Given the description of an element on the screen output the (x, y) to click on. 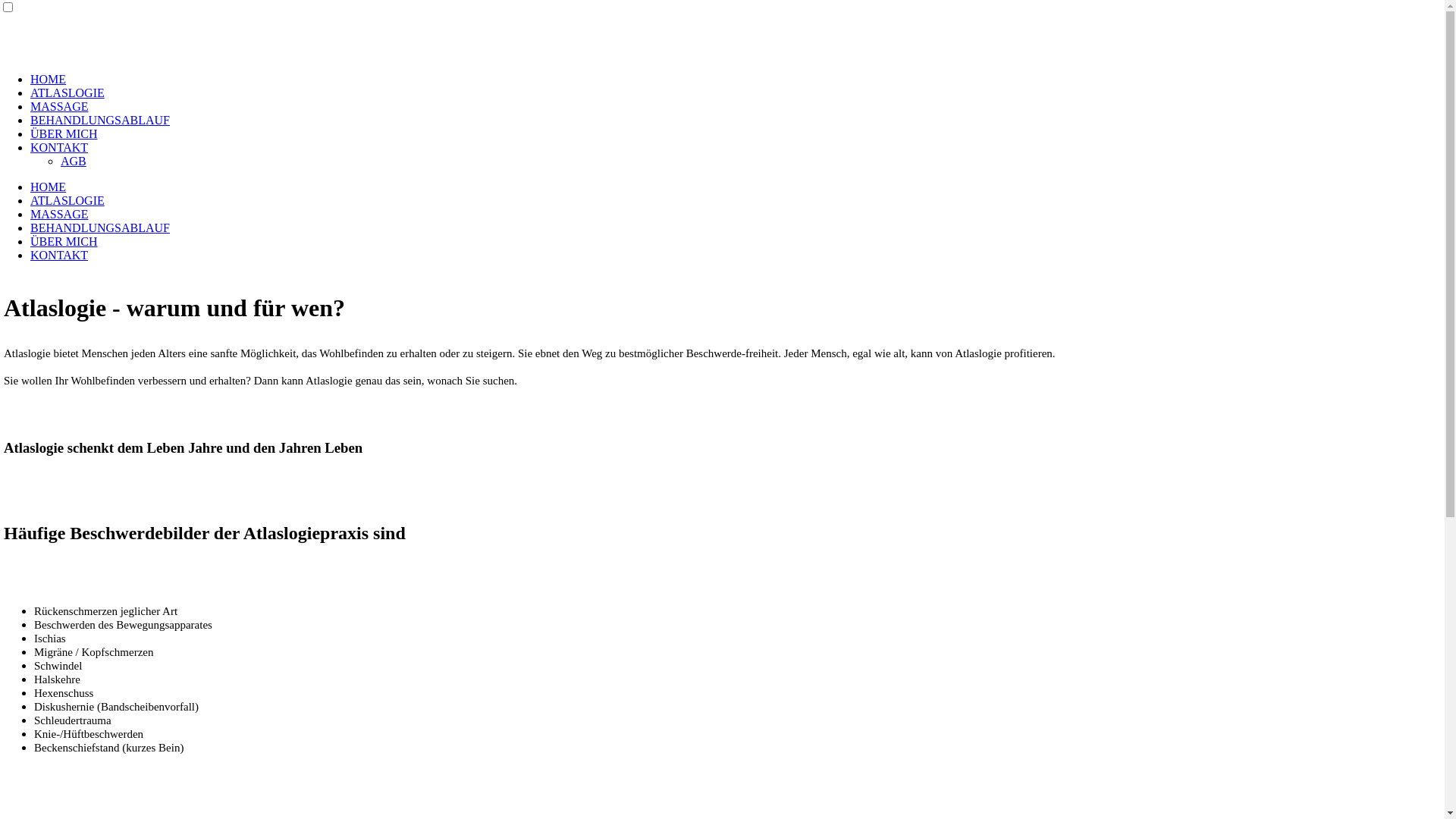
MASSAGE Element type: text (58, 213)
ATLASLOGIE Element type: text (67, 92)
MASSAGE Element type: text (58, 106)
HOME Element type: text (47, 186)
AGB Element type: text (73, 160)
HOME Element type: text (47, 78)
ATLASLOGIE Element type: text (67, 200)
BEHANDLUNGSABLAUF Element type: text (99, 119)
BEHANDLUNGSABLAUF Element type: text (99, 227)
KONTAKT Element type: text (58, 147)
KONTAKT Element type: text (58, 254)
